Given the description of an element on the screen output the (x, y) to click on. 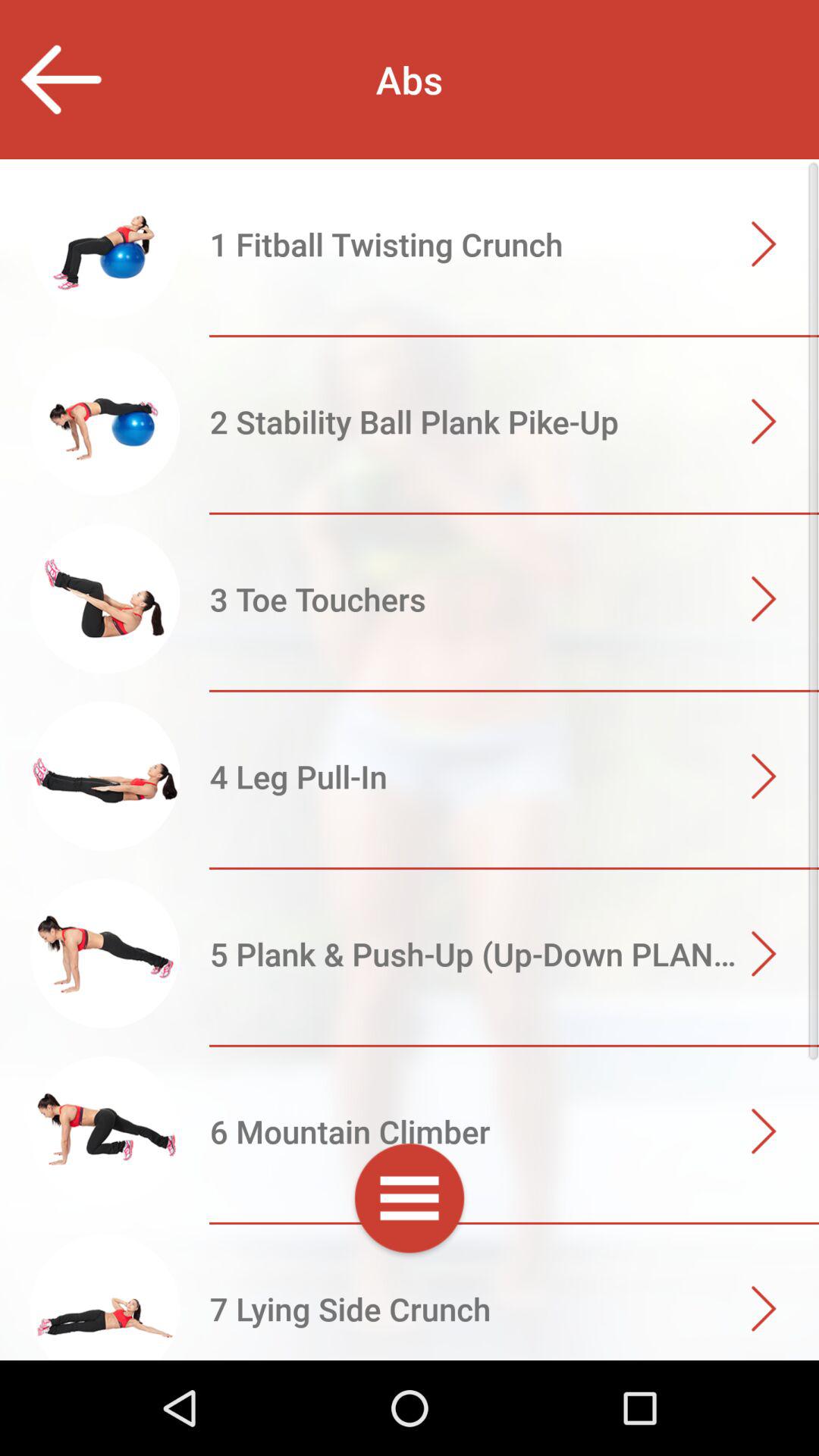
more options (409, 1200)
